Given the description of an element on the screen output the (x, y) to click on. 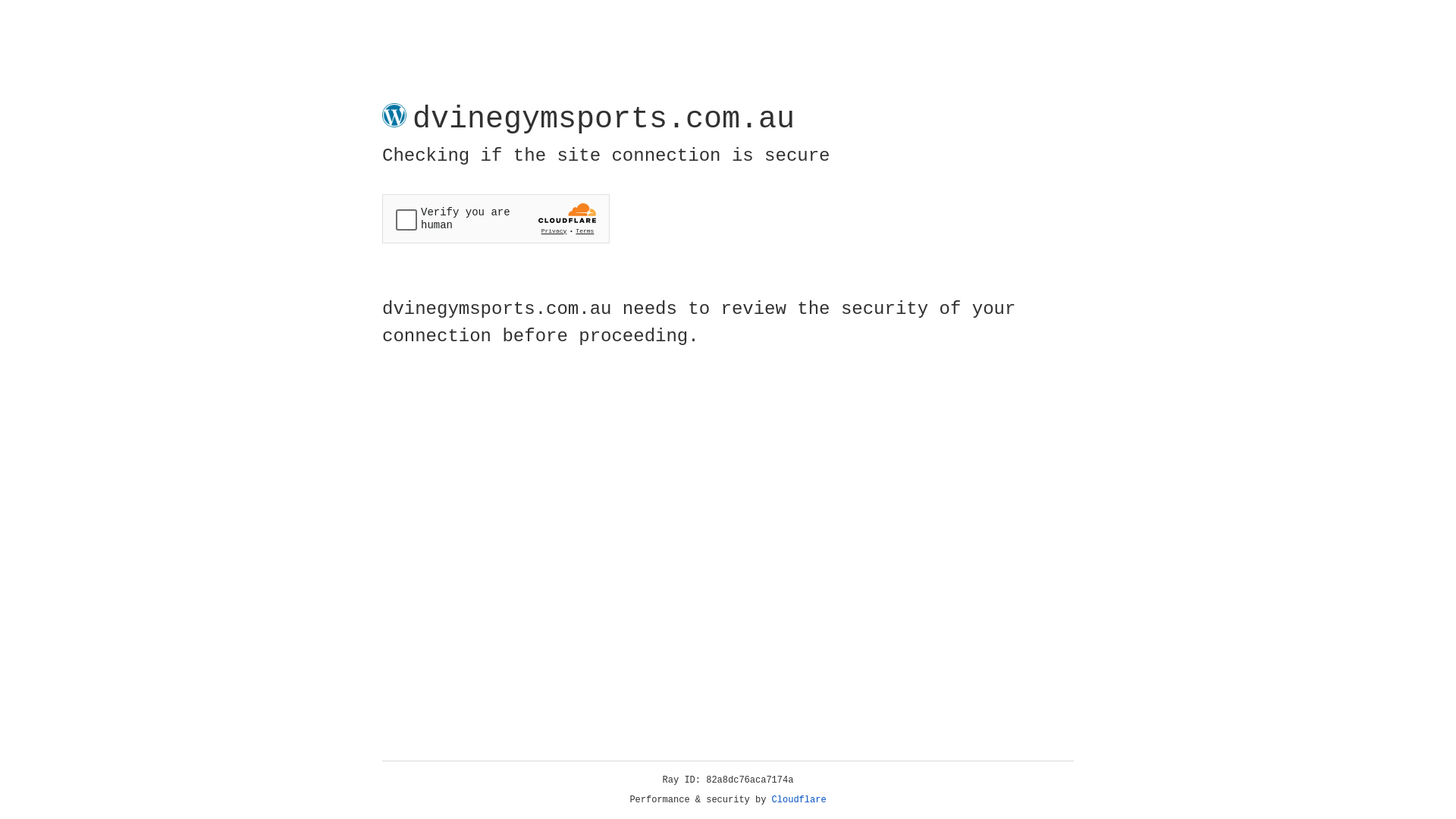
Cloudflare Element type: text (798, 799)
Widget containing a Cloudflare security challenge Element type: hover (495, 218)
